Given the description of an element on the screen output the (x, y) to click on. 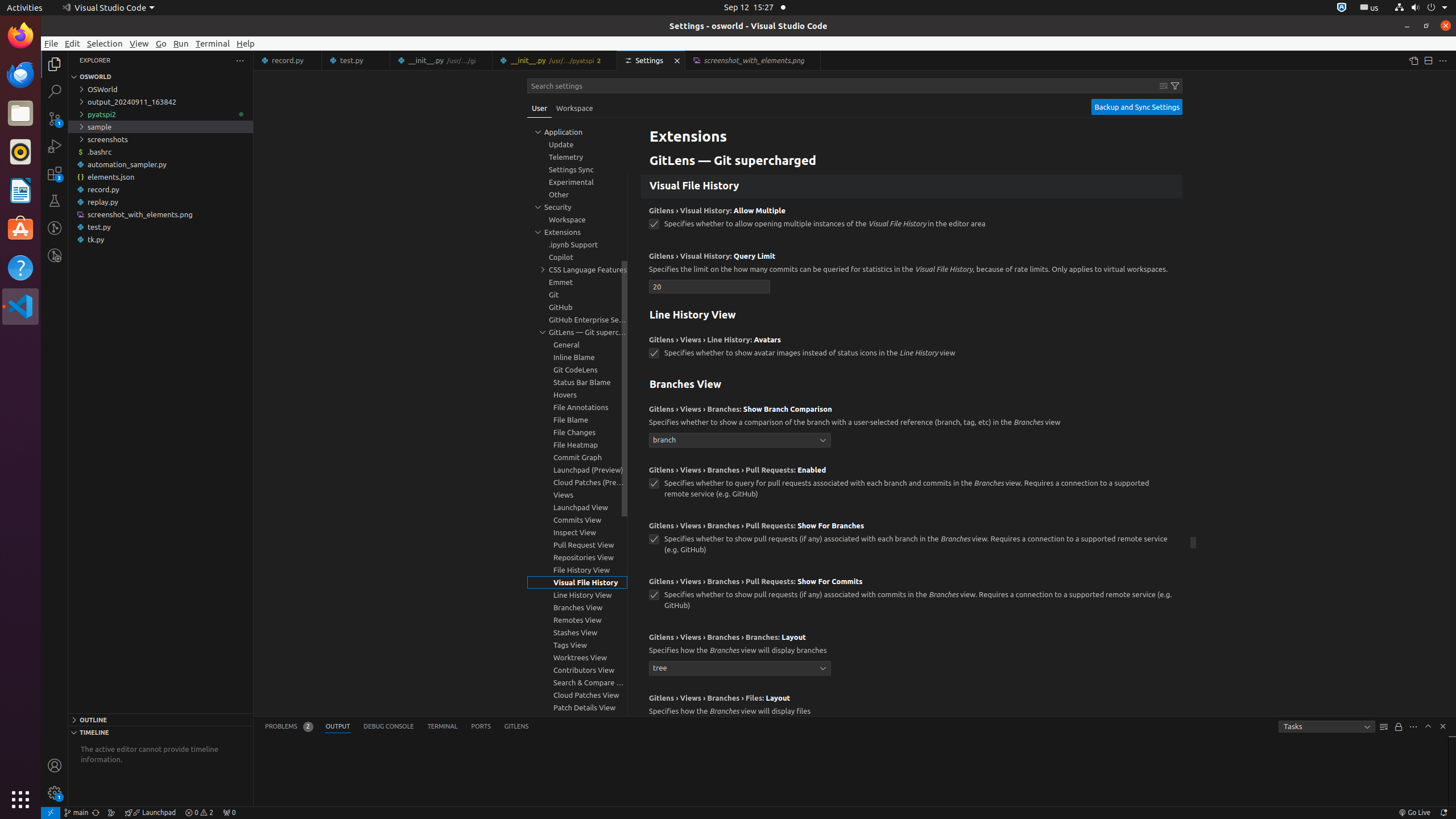
Manage - New Code update available. Element type: push-button (54, 792)
No Ports Forwarded Element type: push-button (228, 812)
Visual File History, group Element type: tree-item (577, 582)
.bashrc Element type: tree-item (160, 151)
tk.py Element type: tree-item (160, 239)
